Given the description of an element on the screen output the (x, y) to click on. 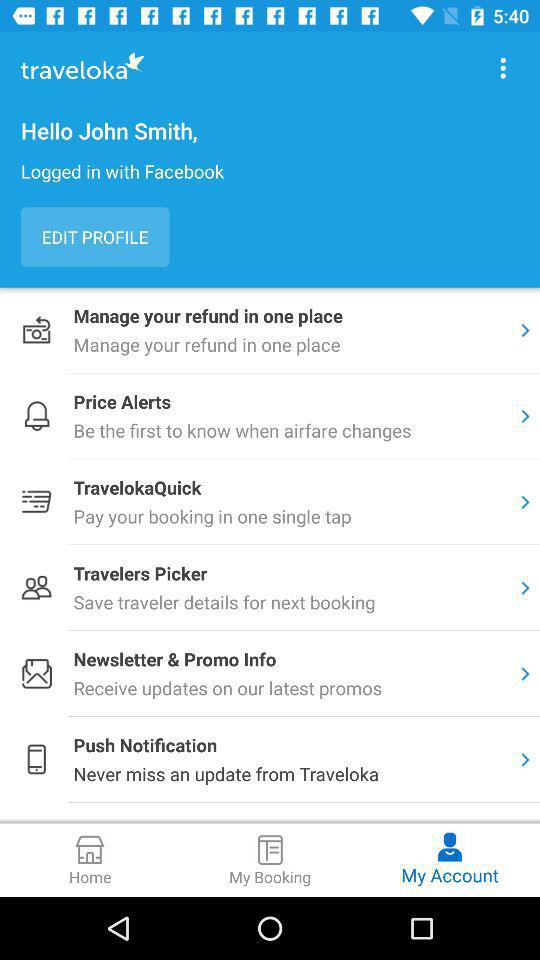
go to bookmarks and history (503, 68)
